Given the description of an element on the screen output the (x, y) to click on. 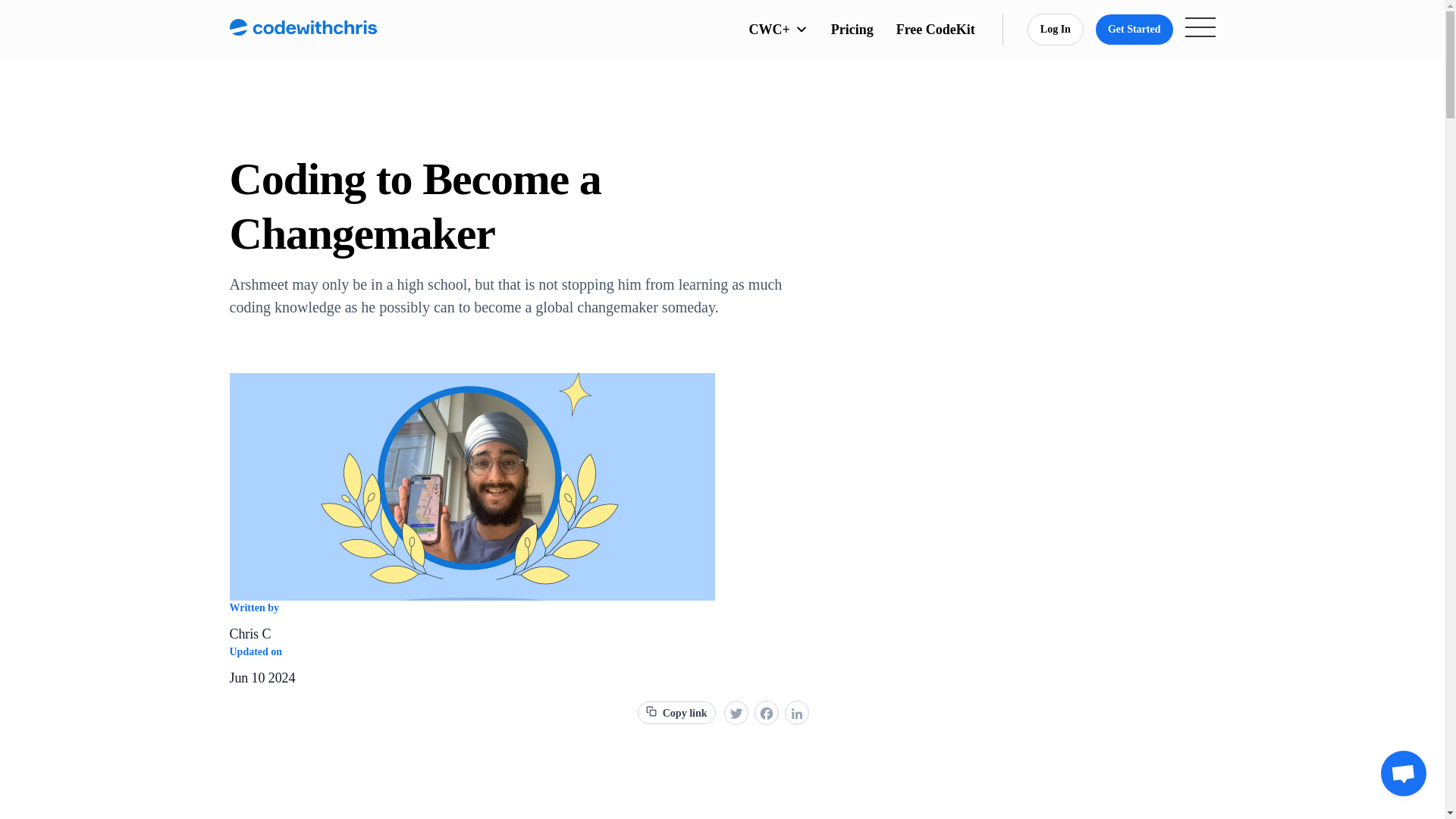
Twitter (735, 714)
LinkedIn (795, 714)
Get Started (1134, 28)
Twitter (735, 714)
Facebook (765, 714)
Facebook (765, 714)
LinkedIn (795, 714)
Log In (1055, 29)
